Given the description of an element on the screen output the (x, y) to click on. 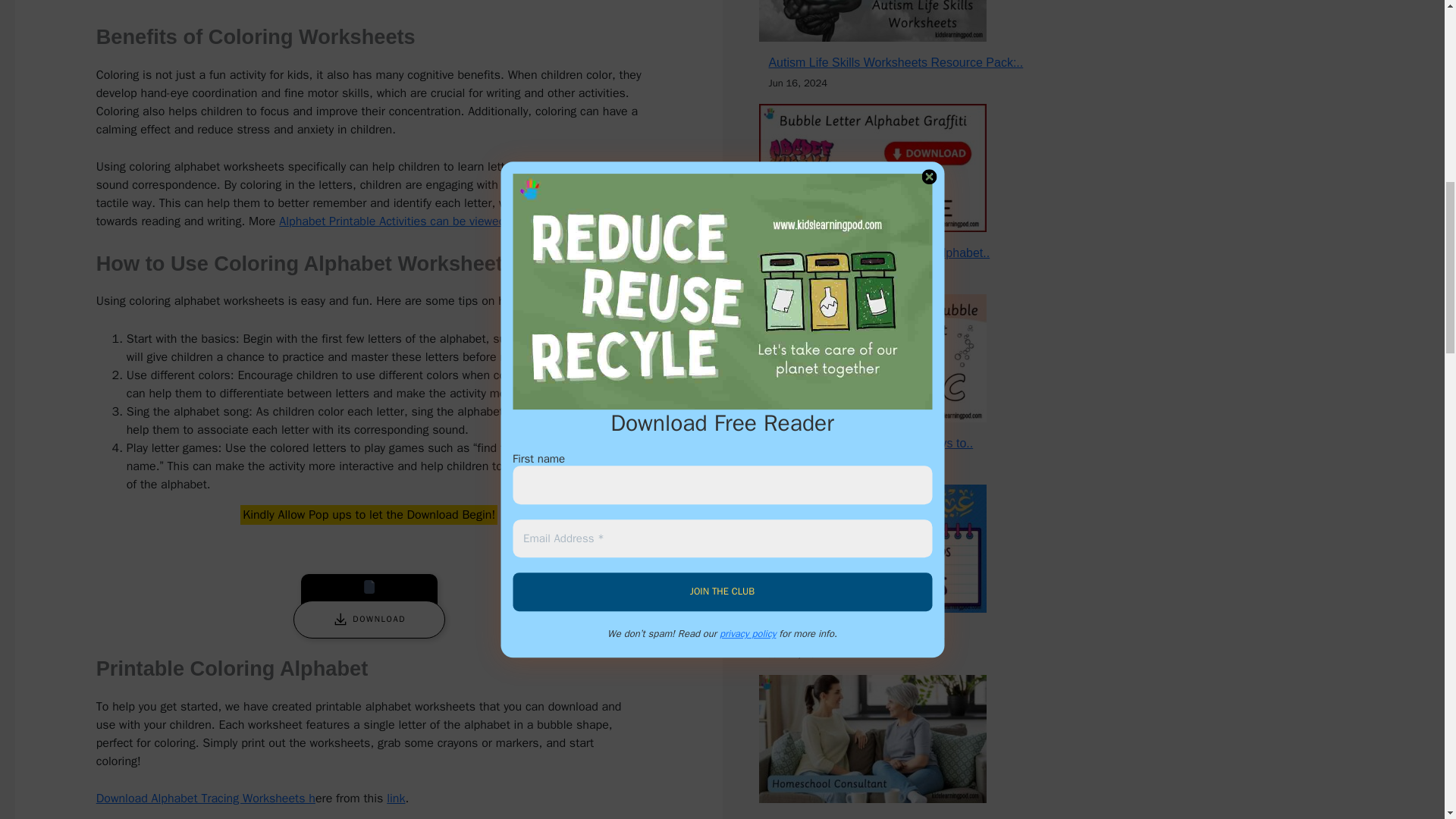
link (395, 798)
DOWNLOAD (369, 619)
Alphabet Printable Activities can be viewed here.  (408, 221)
Download (369, 619)
Download Alphabet Tracing Worksheets h (205, 798)
Advertisement (369, 8)
